Given the description of an element on the screen output the (x, y) to click on. 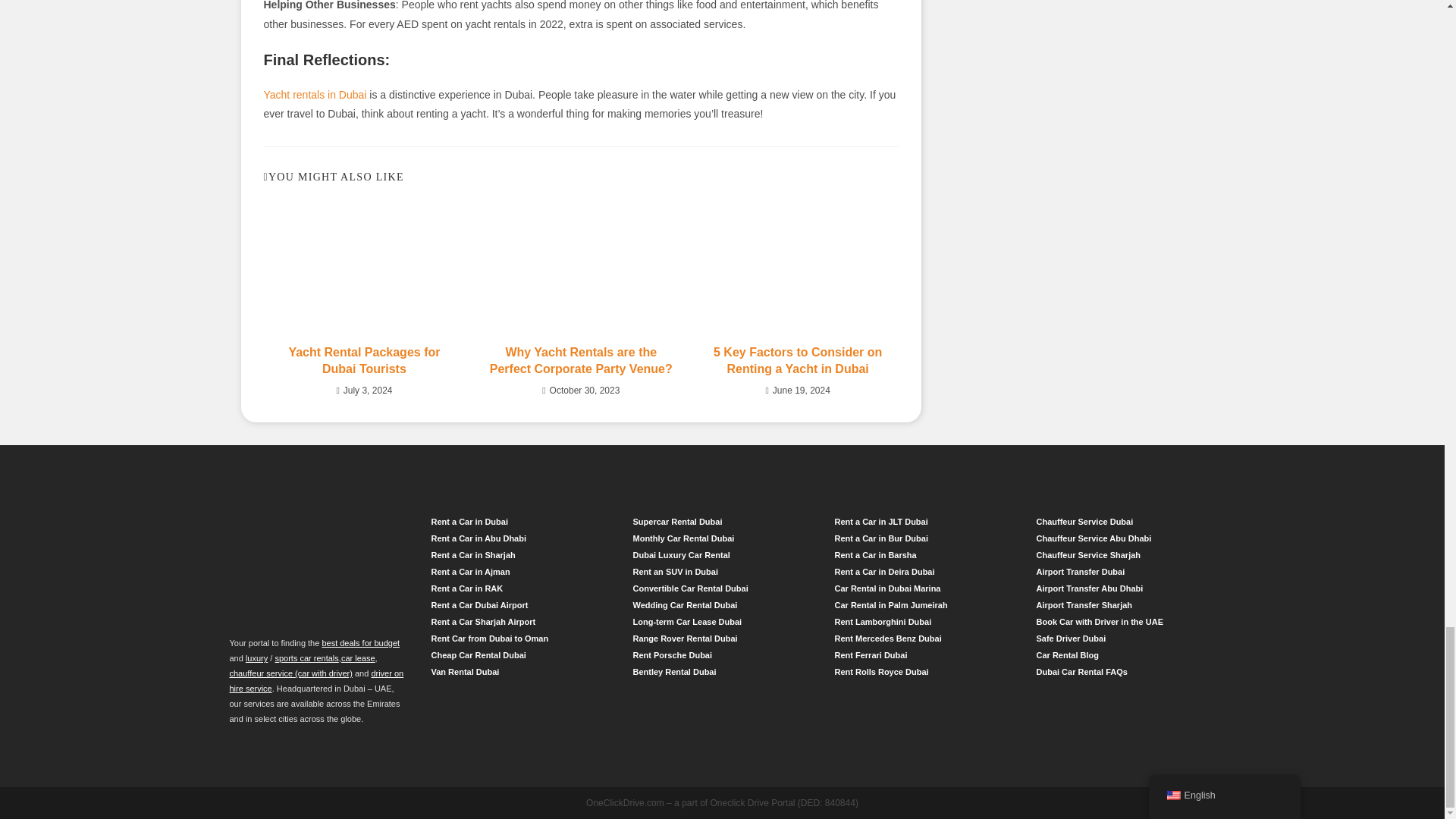
Yacht Rental Packages for Dubai Tourists (365, 360)
Why Yacht Rentals are the Perfect Corporate Party Venue? (580, 360)
5 Key Factors to Consider on Renting a Yacht in Dubai (797, 360)
